Given the description of an element on the screen output the (x, y) to click on. 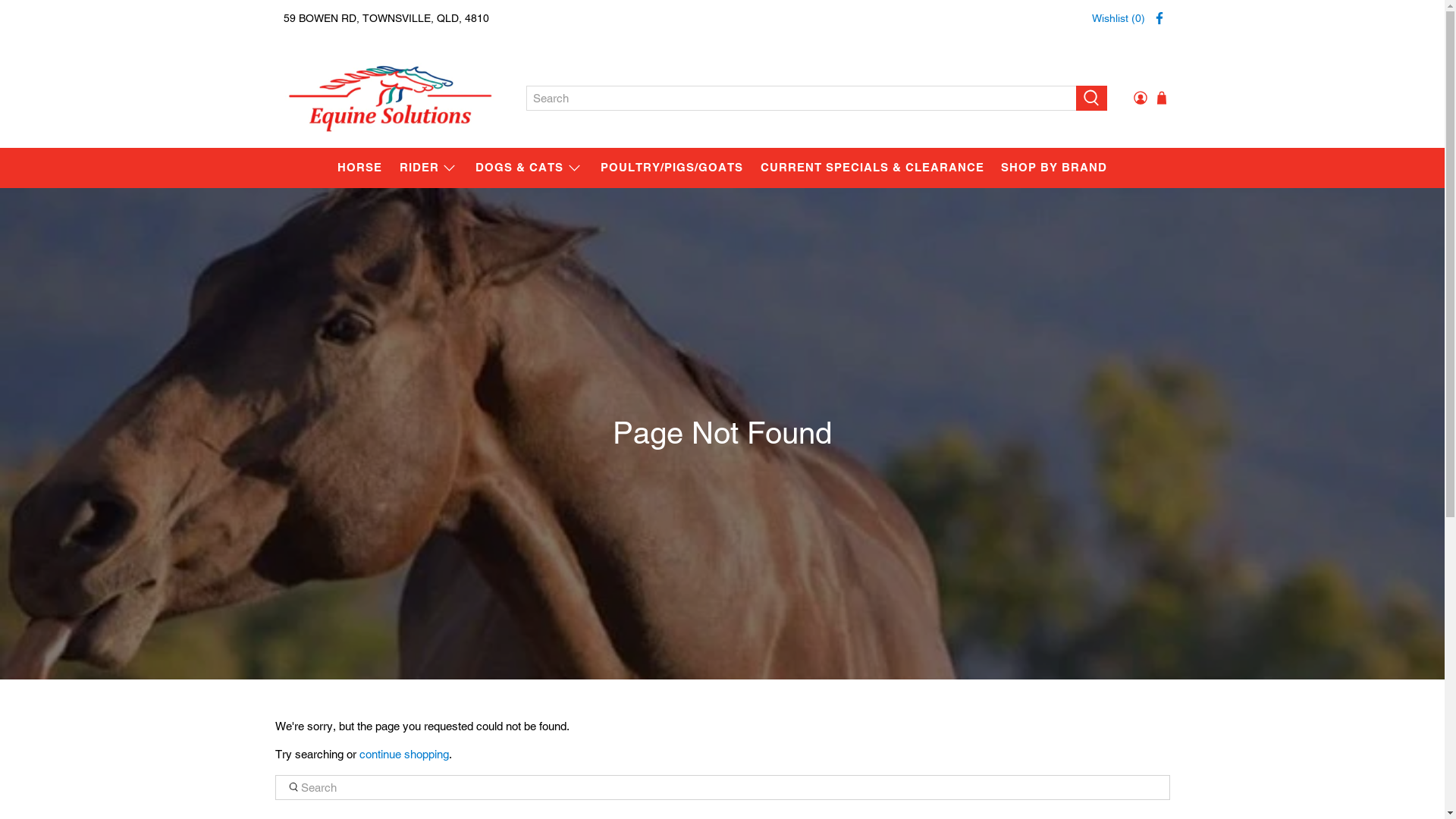
HORSE Element type: text (360, 167)
RIDER Element type: text (428, 167)
continue shopping Element type: text (403, 753)
Equine Solutions Element type: hover (389, 97)
SHOP BY BRAND Element type: text (1054, 167)
POULTRY/PIGS/GOATS Element type: text (672, 167)
CURRENT SPECIALS & CLEARANCE Element type: text (871, 167)
Equine Solutions on Facebook Element type: hover (1159, 18)
DOGS & CATS Element type: text (529, 167)
